Given the description of an element on the screen output the (x, y) to click on. 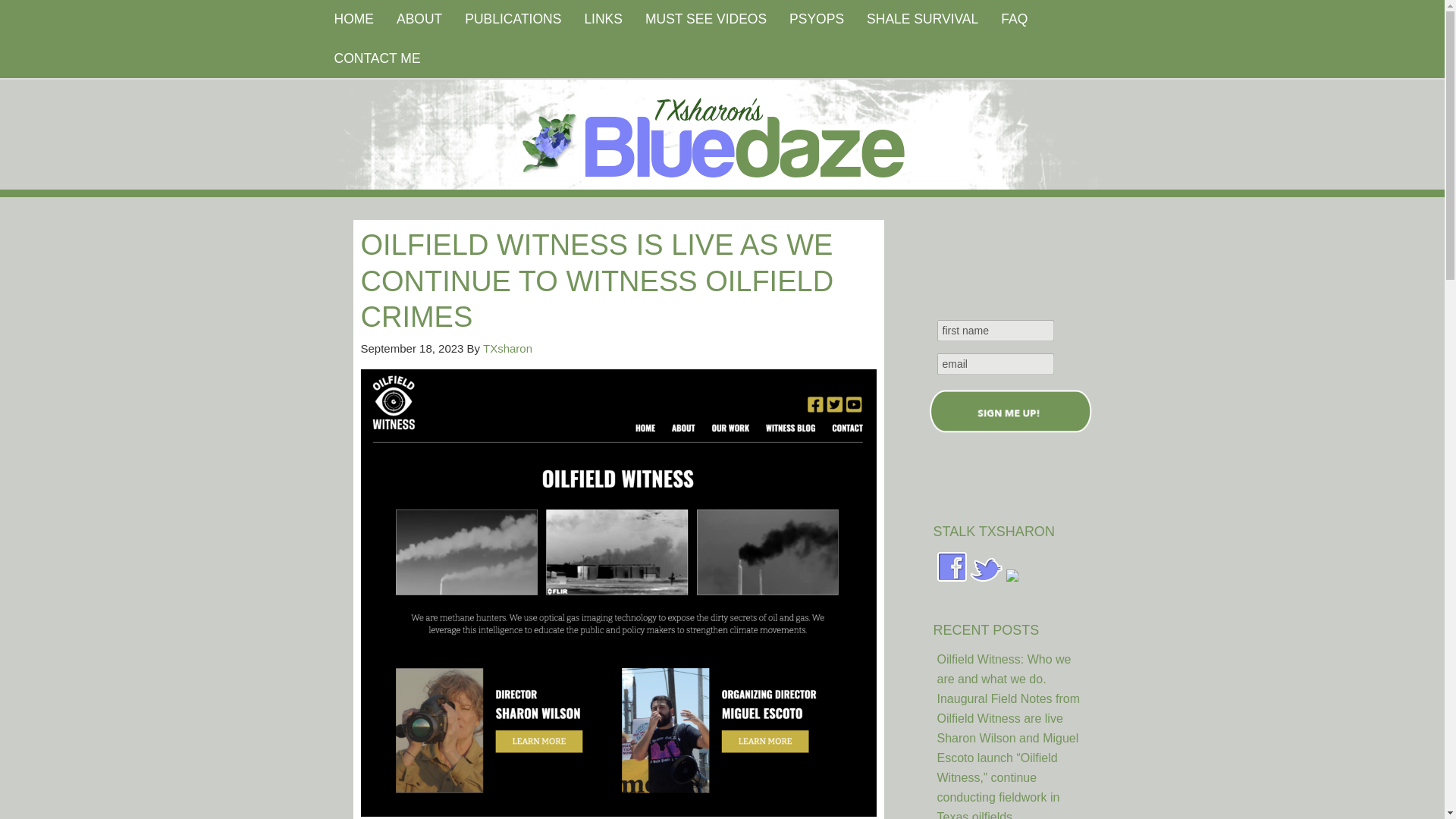
CONTACT ME (377, 58)
Texas Sharon's Bluedaze (864, 134)
ABOUT (418, 19)
first name (995, 330)
PSYOPS (816, 19)
TXsharon (507, 347)
SHALE SURVIVAL (923, 19)
PUBLICATIONS (512, 19)
MUST SEE VIDEOS (705, 19)
Inaugural Field Notes from Oilfield Witness are live (1008, 708)
